Given the description of an element on the screen output the (x, y) to click on. 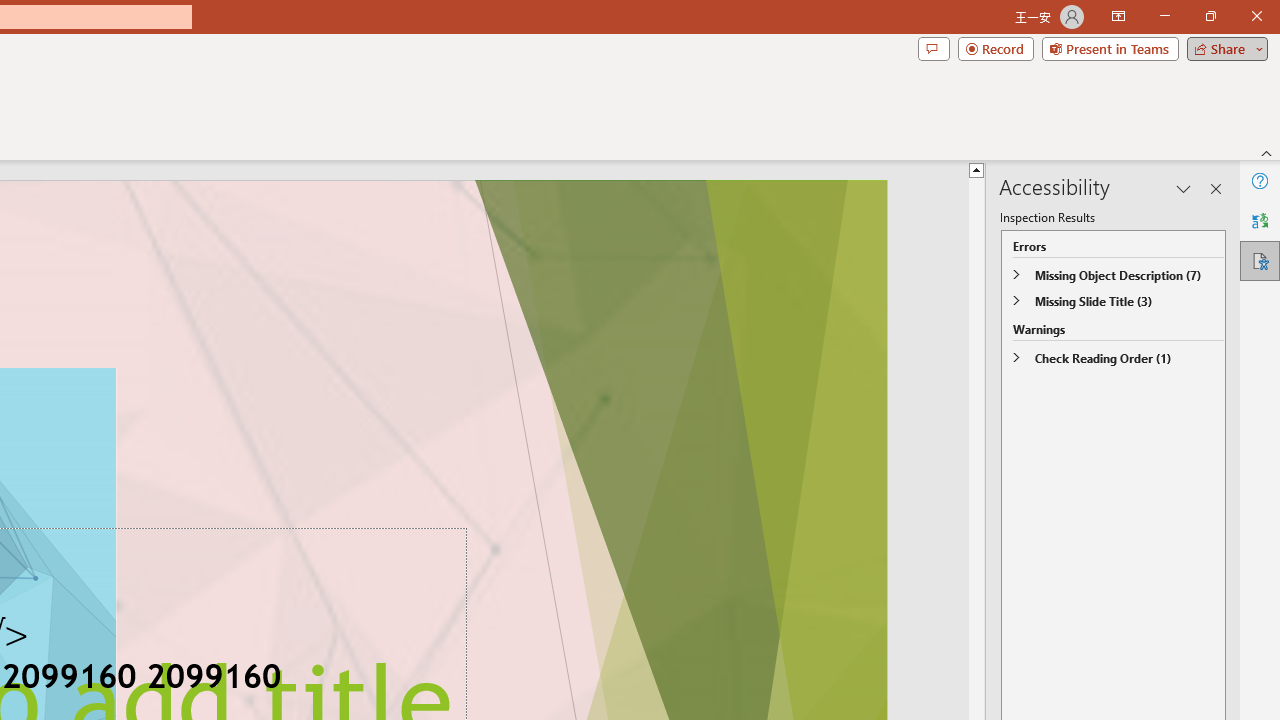
Translator (1260, 220)
